Given the description of an element on the screen output the (x, y) to click on. 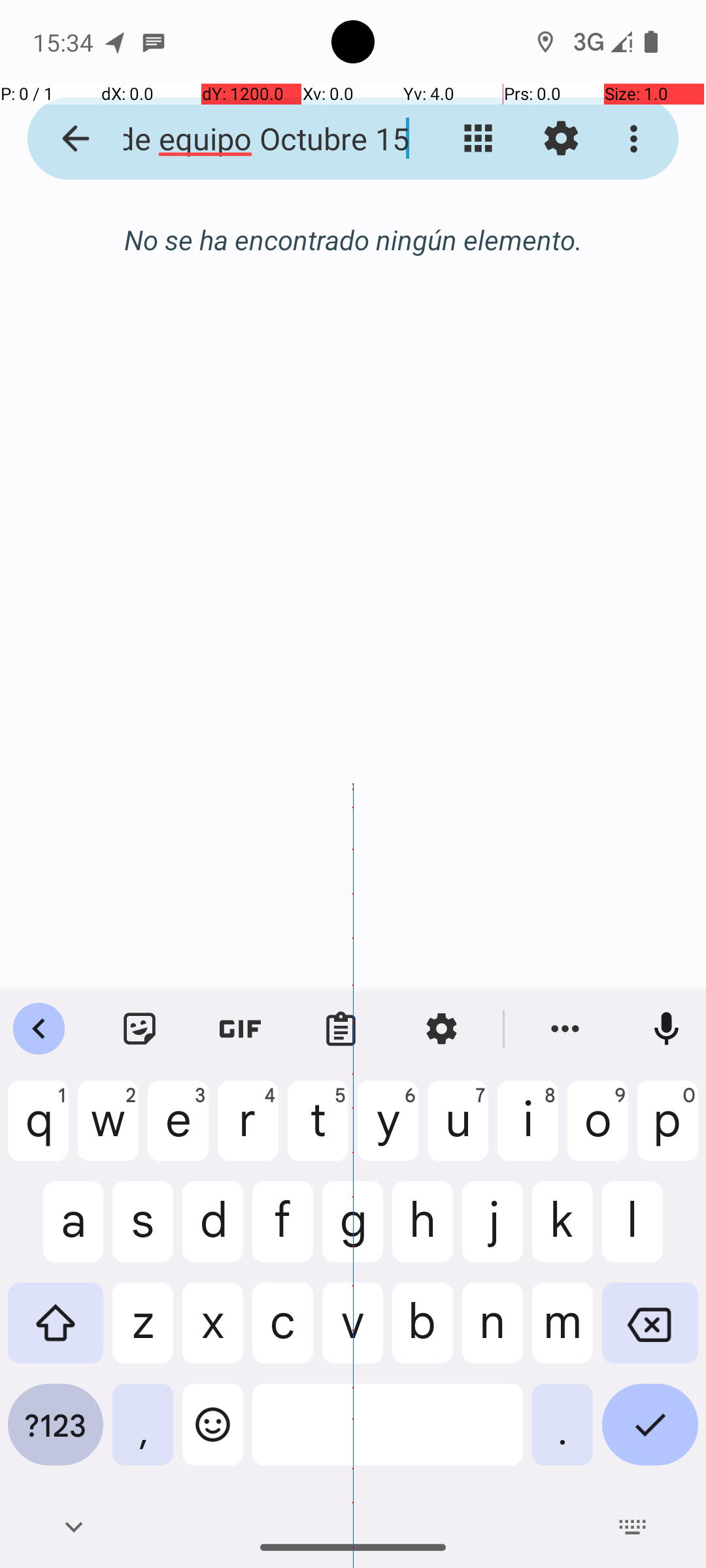
Reunion de equipo Octubre 15 Element type: android.widget.EditText (252, 138)
Cambiar vista Element type: android.widget.Button (477, 138)
Ajustes Element type: android.widget.Button (560, 138)
Más opciones Element type: android.widget.ImageView (636, 138)
Nuevo evento Element type: android.widget.ImageButton (630, 915)
Octubre 15 (dom) Element type: android.widget.TextView (352, 253)
No se ha encontrado ningún elemento. Element type: android.widget.TextView (353, 239)
Catch up on Project X Element type: android.widget.TextView (373, 321)
03:00 - 03:15 Element type: android.widget.TextView (137, 362)
We will review marketing strategies. Looking forward to productive discussions. Element type: android.widget.TextView (373, 397)
